Given the description of an element on the screen output the (x, y) to click on. 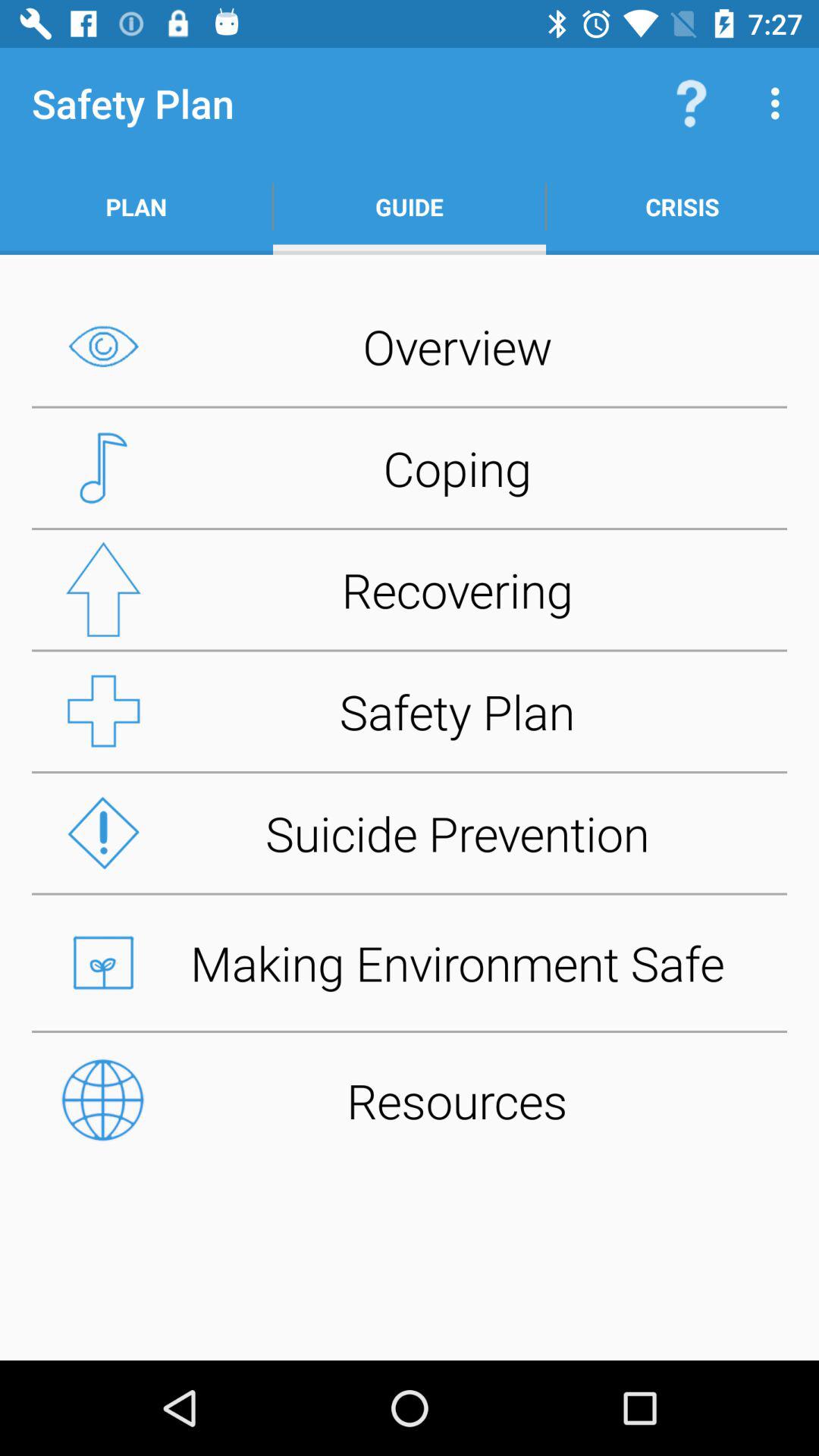
select the item next to crisis app (409, 206)
